Given the description of an element on the screen output the (x, y) to click on. 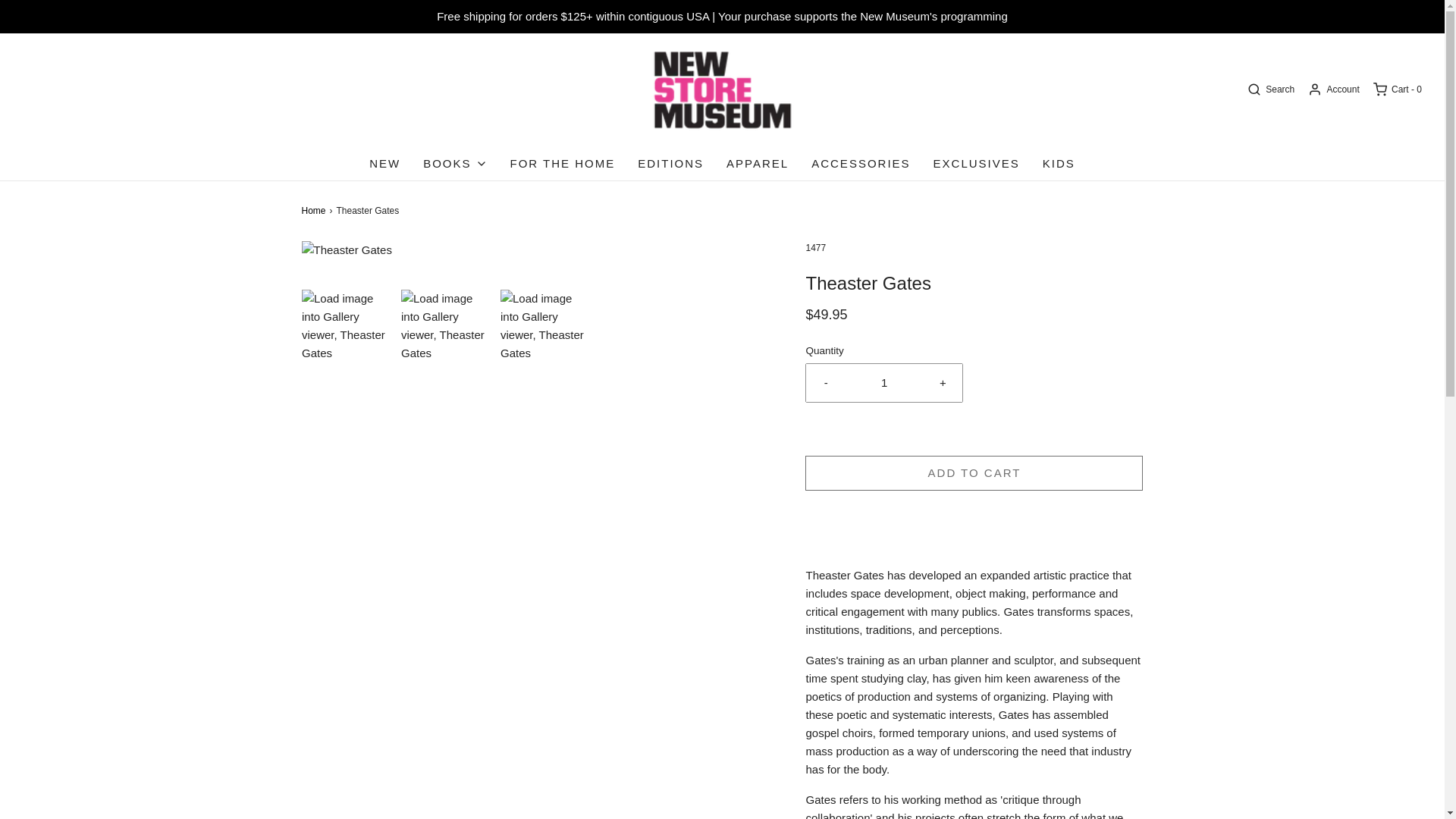
Cart (1396, 89)
BOOKS (454, 163)
Account (1332, 89)
Cart - 0 (1396, 89)
Log in (1332, 89)
Search (1269, 89)
1 (884, 382)
NEW (384, 163)
Back to the frontpage (315, 210)
Search (1269, 89)
